Given the description of an element on the screen output the (x, y) to click on. 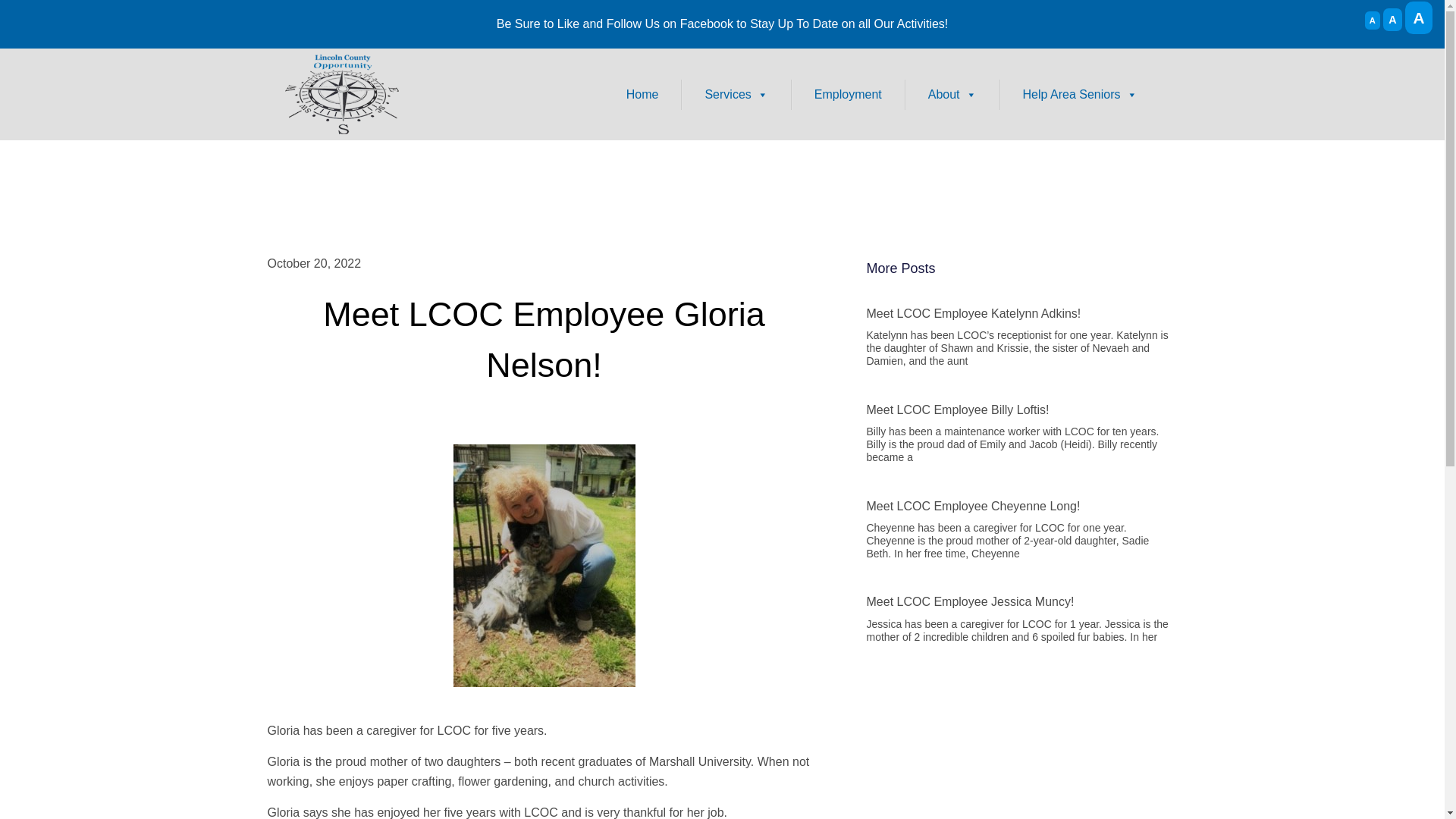
Services (735, 93)
Home (642, 93)
Help Area Seniors (1080, 93)
About (951, 93)
Employment (848, 93)
